Given the description of an element on the screen output the (x, y) to click on. 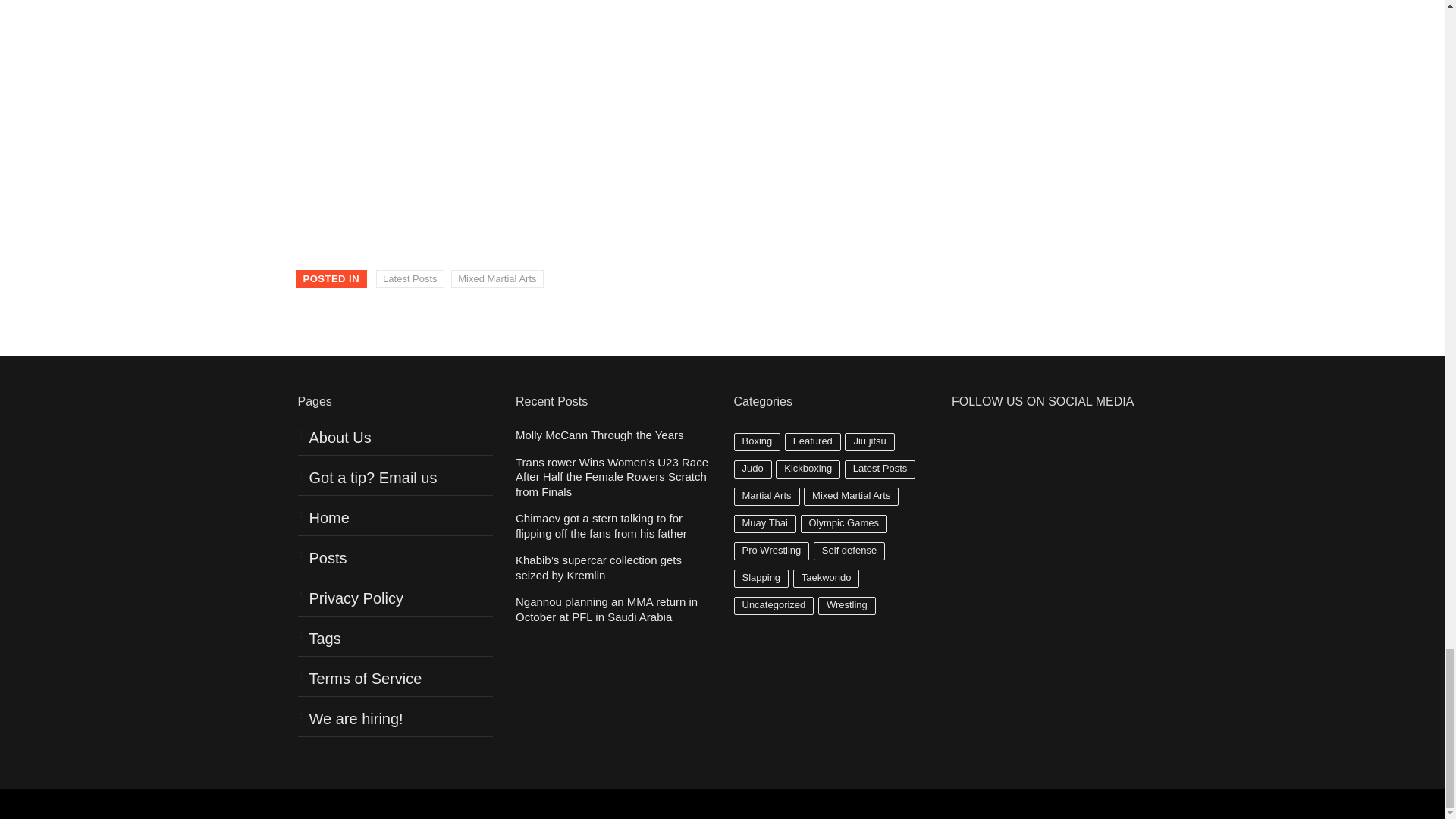
Mixed Martial Arts (497, 279)
Latest Posts (409, 279)
